Given the description of an element on the screen output the (x, y) to click on. 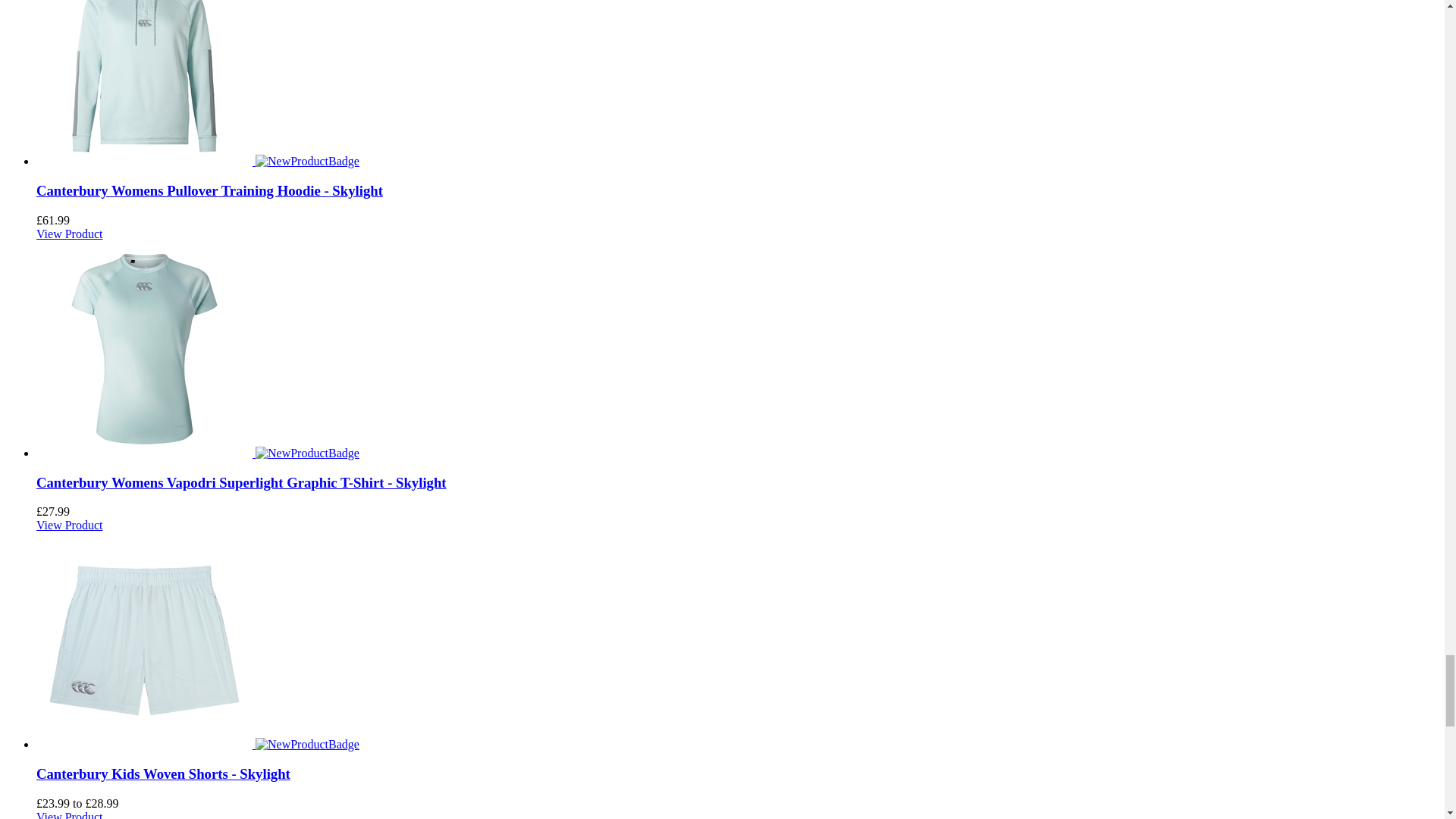
ccc-womens-training-hoodie-skylight-front.jpg (143, 82)
